Given the description of an element on the screen output the (x, y) to click on. 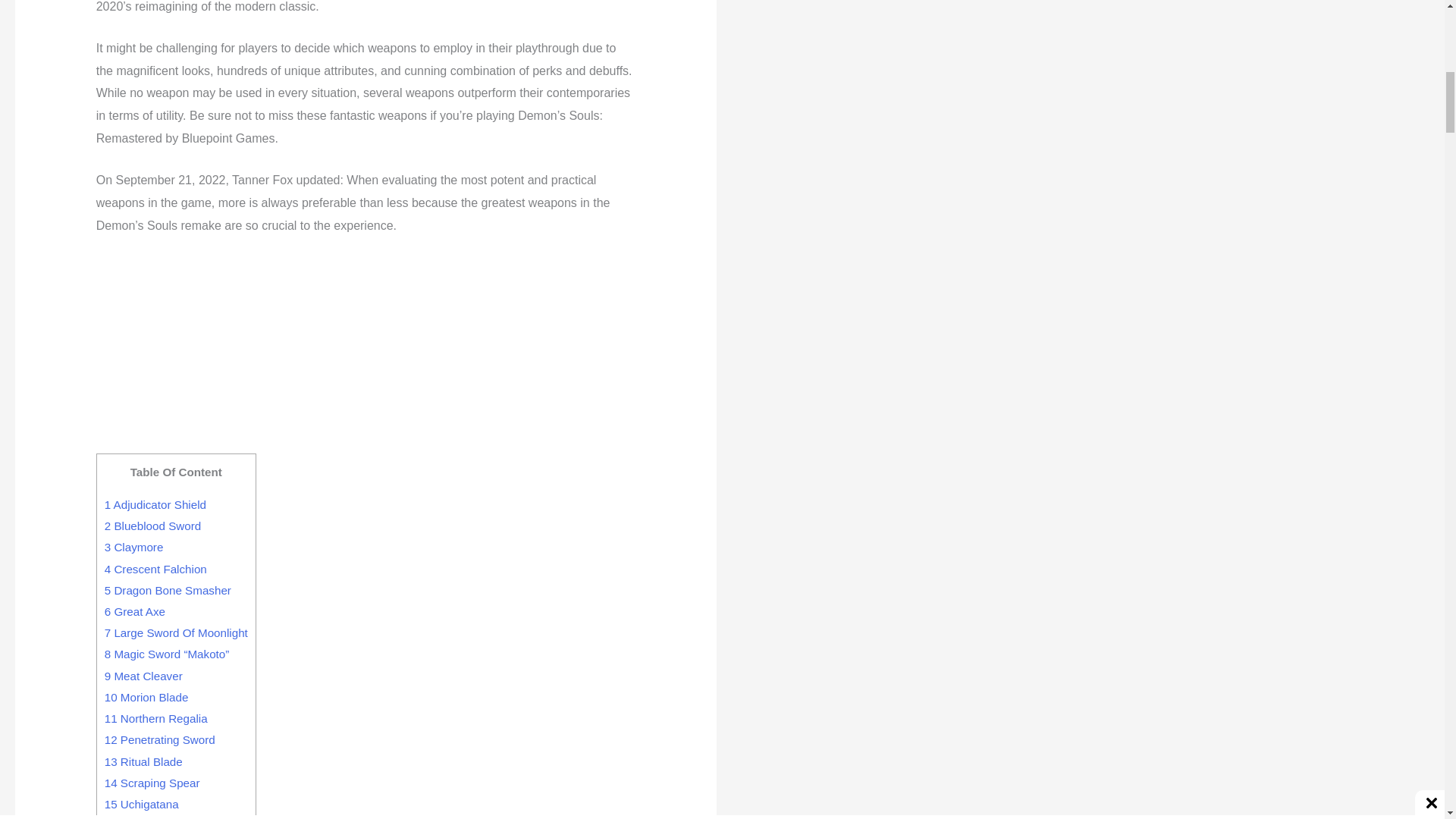
2 Blueblood Sword (153, 525)
12 Penetrating Sword (159, 739)
6 Great Axe (134, 611)
7 Large Sword Of Moonlight (175, 632)
10 Morion Blade (146, 697)
11 Northern Regalia (156, 717)
15 Uchigatana (141, 803)
14 Scraping Spear (152, 782)
1 Adjudicator Shield (155, 504)
5 Dragon Bone Smasher (167, 590)
